Given the description of an element on the screen output the (x, y) to click on. 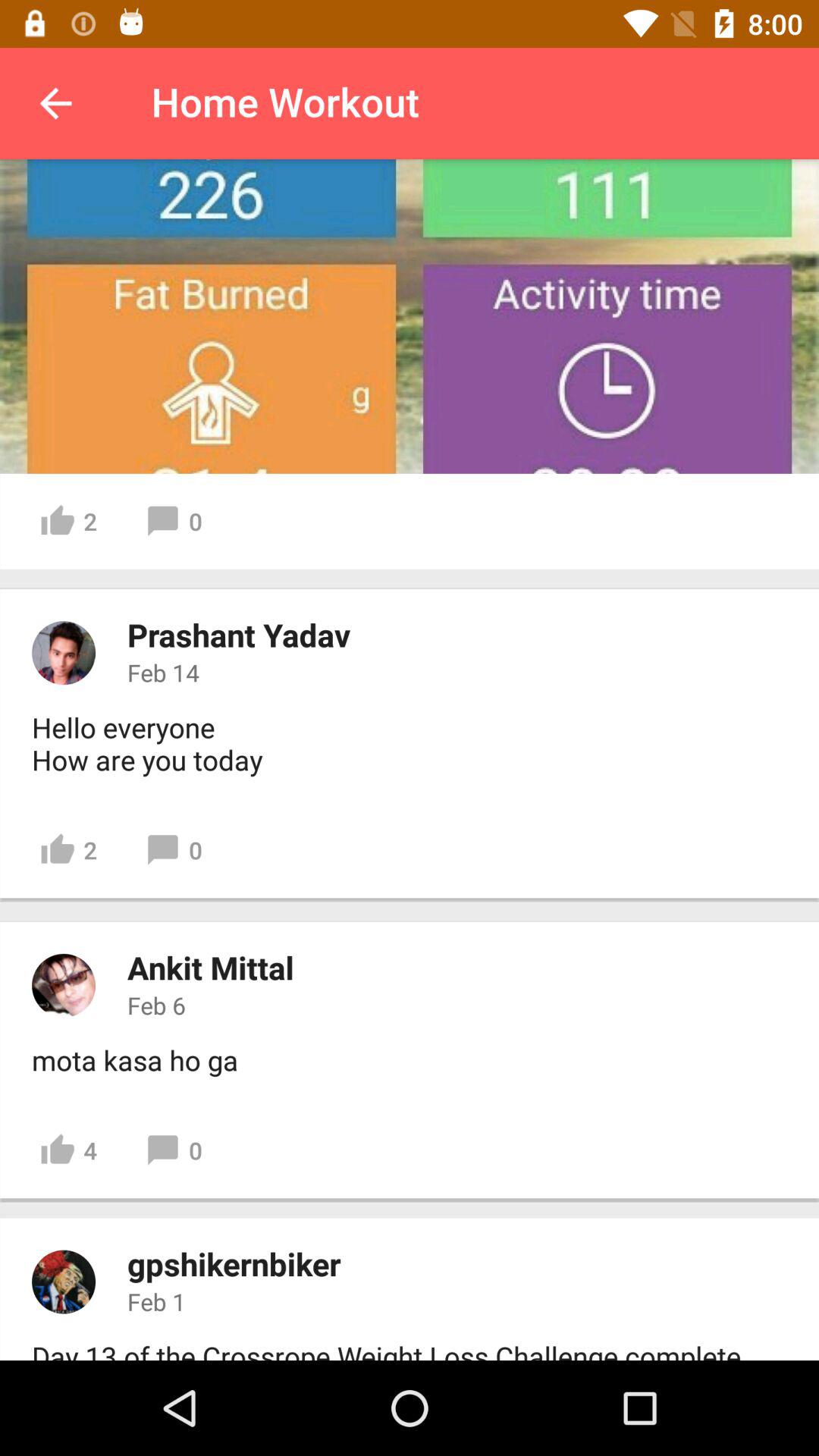
select hello everyone how item (146, 743)
